Given the description of an element on the screen output the (x, y) to click on. 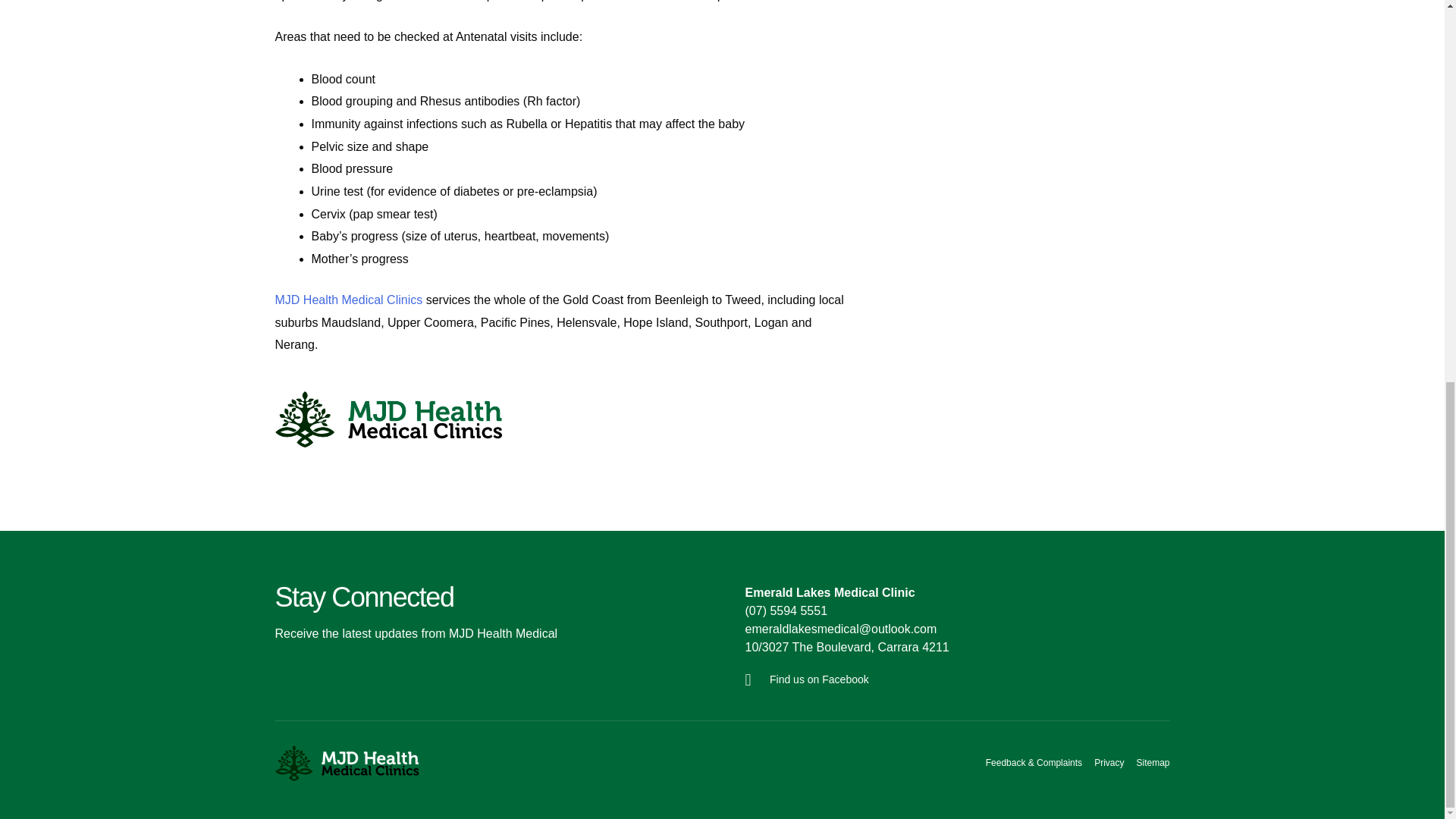
Find us on Facebook (952, 679)
Sitemap (1152, 762)
MJD Health Medical Clinics (348, 299)
Emerald Lakes Medical Clinic (829, 592)
Privacy (1109, 762)
